Given the description of an element on the screen output the (x, y) to click on. 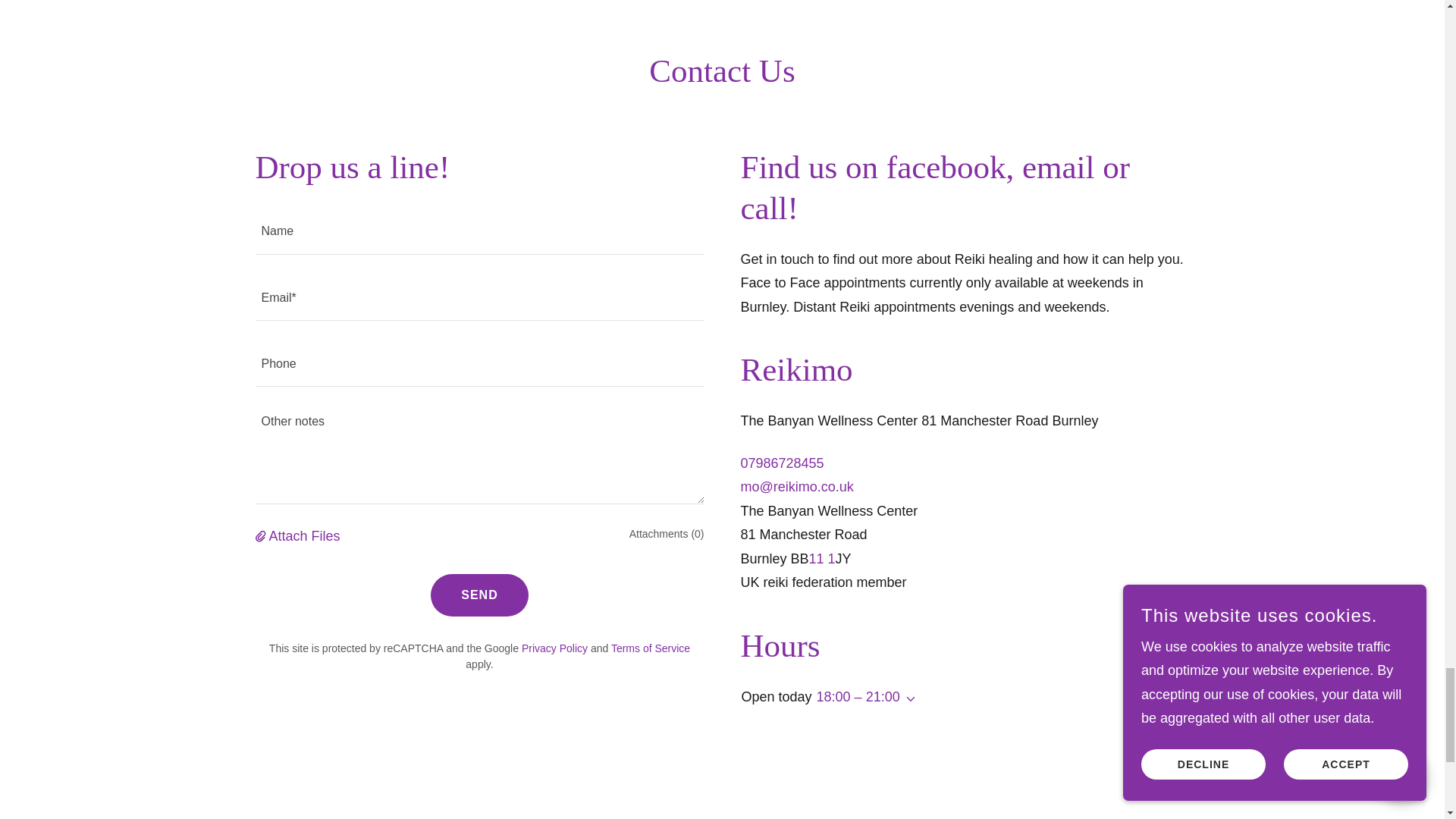
07986728455 (781, 462)
Terms of Service (650, 648)
Privacy Policy (554, 648)
11 1 (822, 558)
SEND (478, 595)
